Given the description of an element on the screen output the (x, y) to click on. 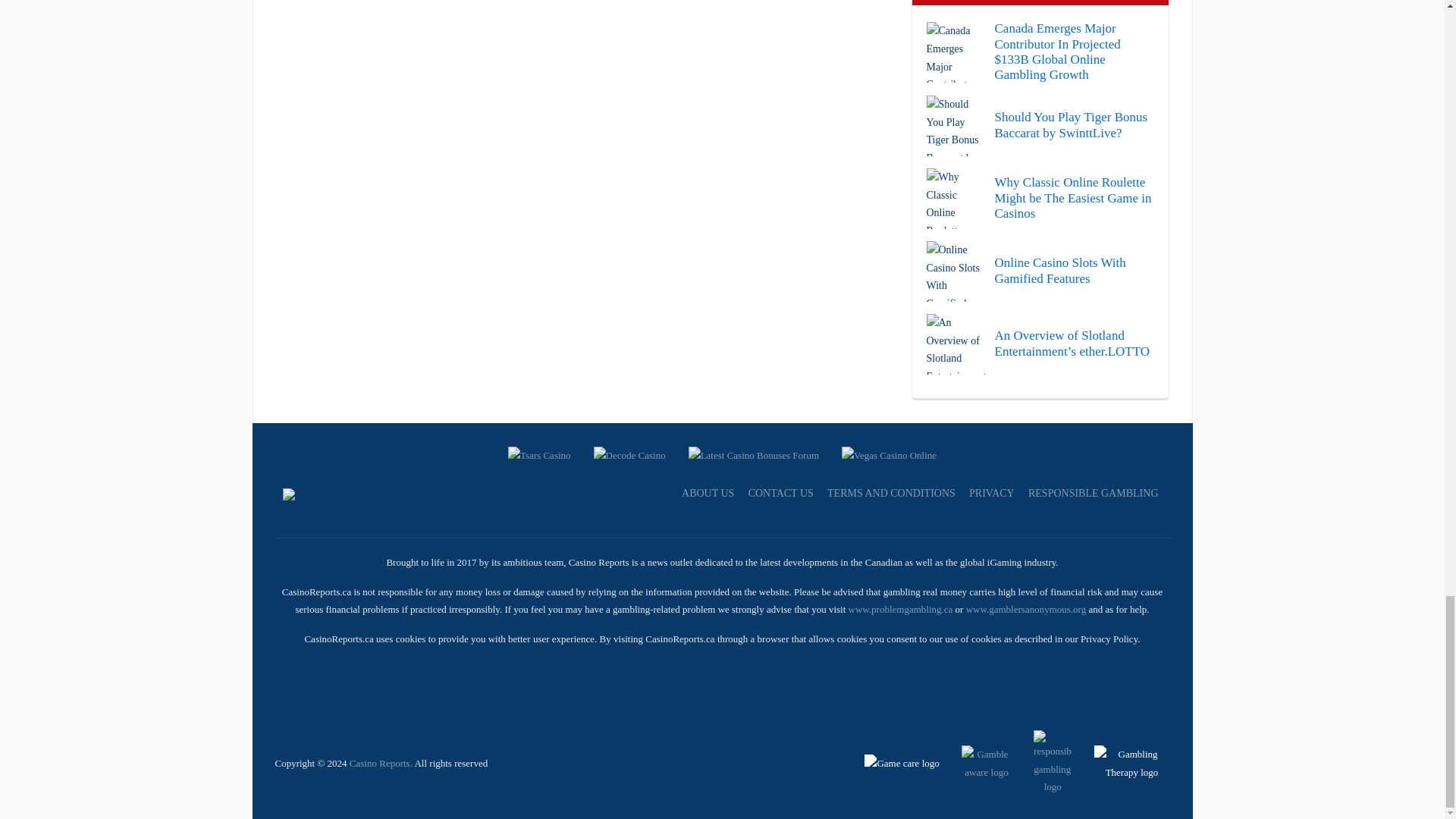
Online Casino Slots With Gamified Features (1040, 271)
Should You Play Tiger Bonus Baccarat by SwinttLive? (1040, 125)
Gamble Aware (977, 762)
Latest Casino Bonuses Forum (753, 454)
Game Care (903, 762)
